Given the description of an element on the screen output the (x, y) to click on. 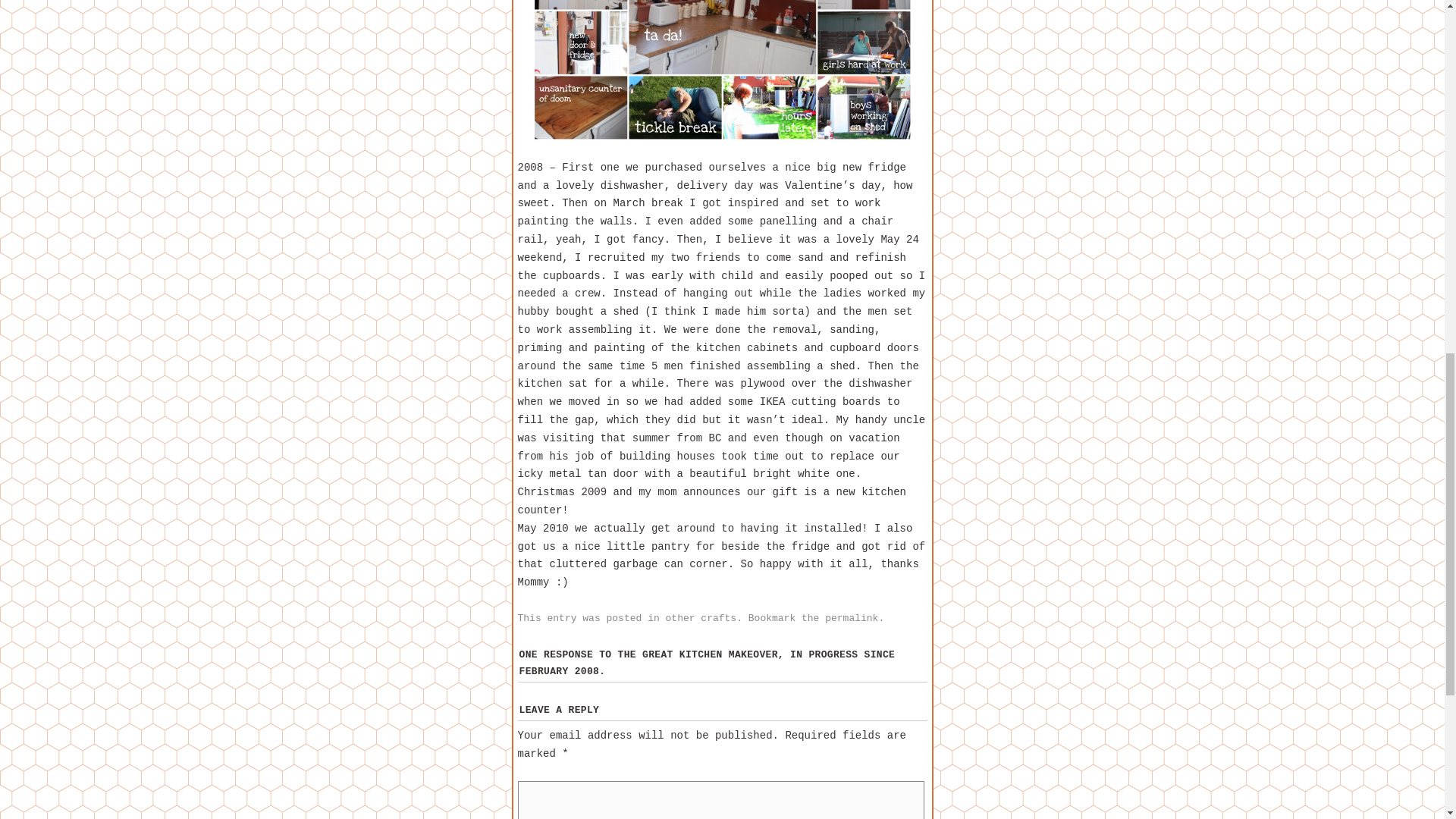
permalink (851, 618)
other crafts (700, 618)
kitchen collage (721, 70)
